Given the description of an element on the screen output the (x, y) to click on. 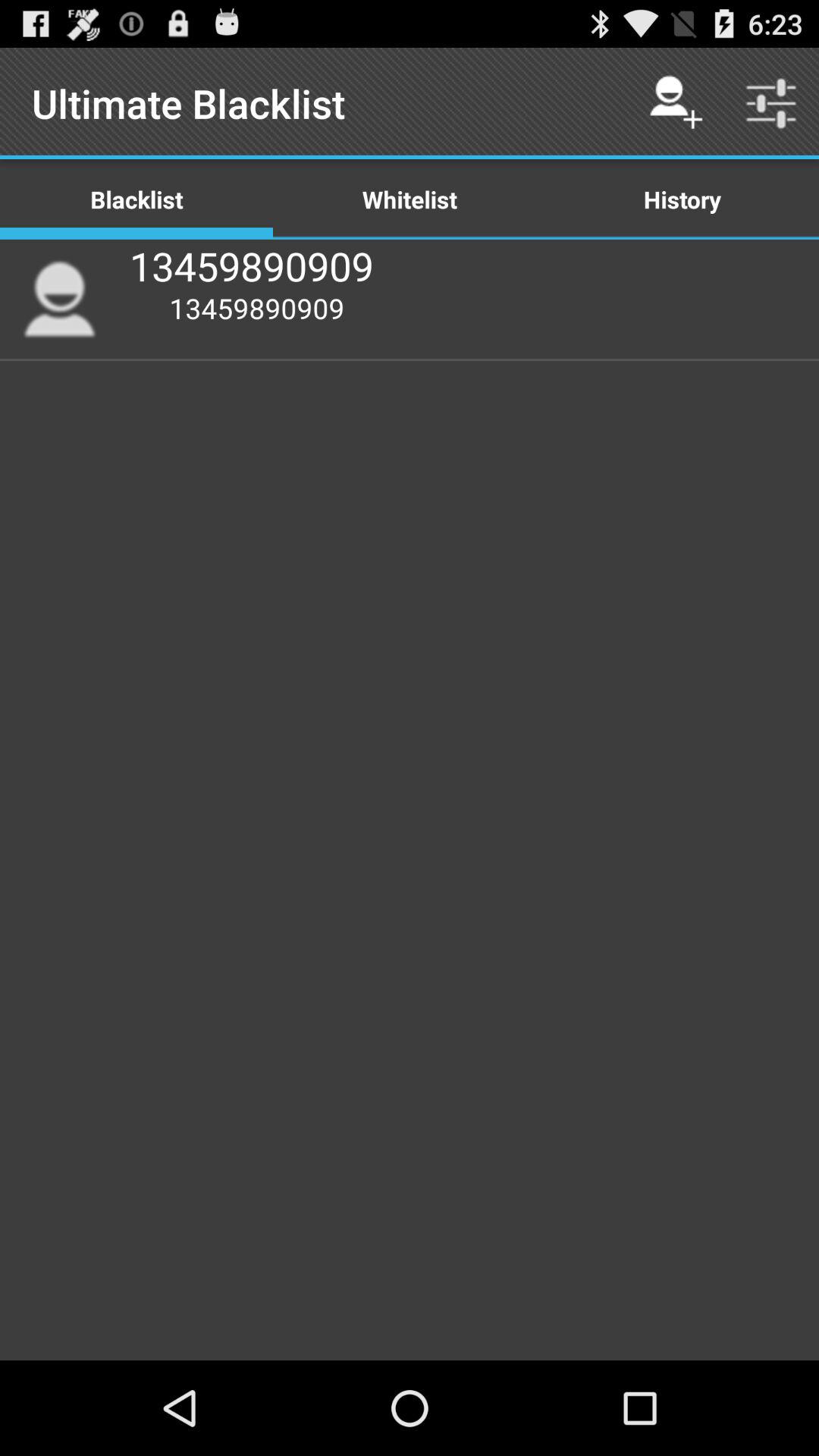
choose the icon next to 13459890909 item (59, 298)
